Given the description of an element on the screen output the (x, y) to click on. 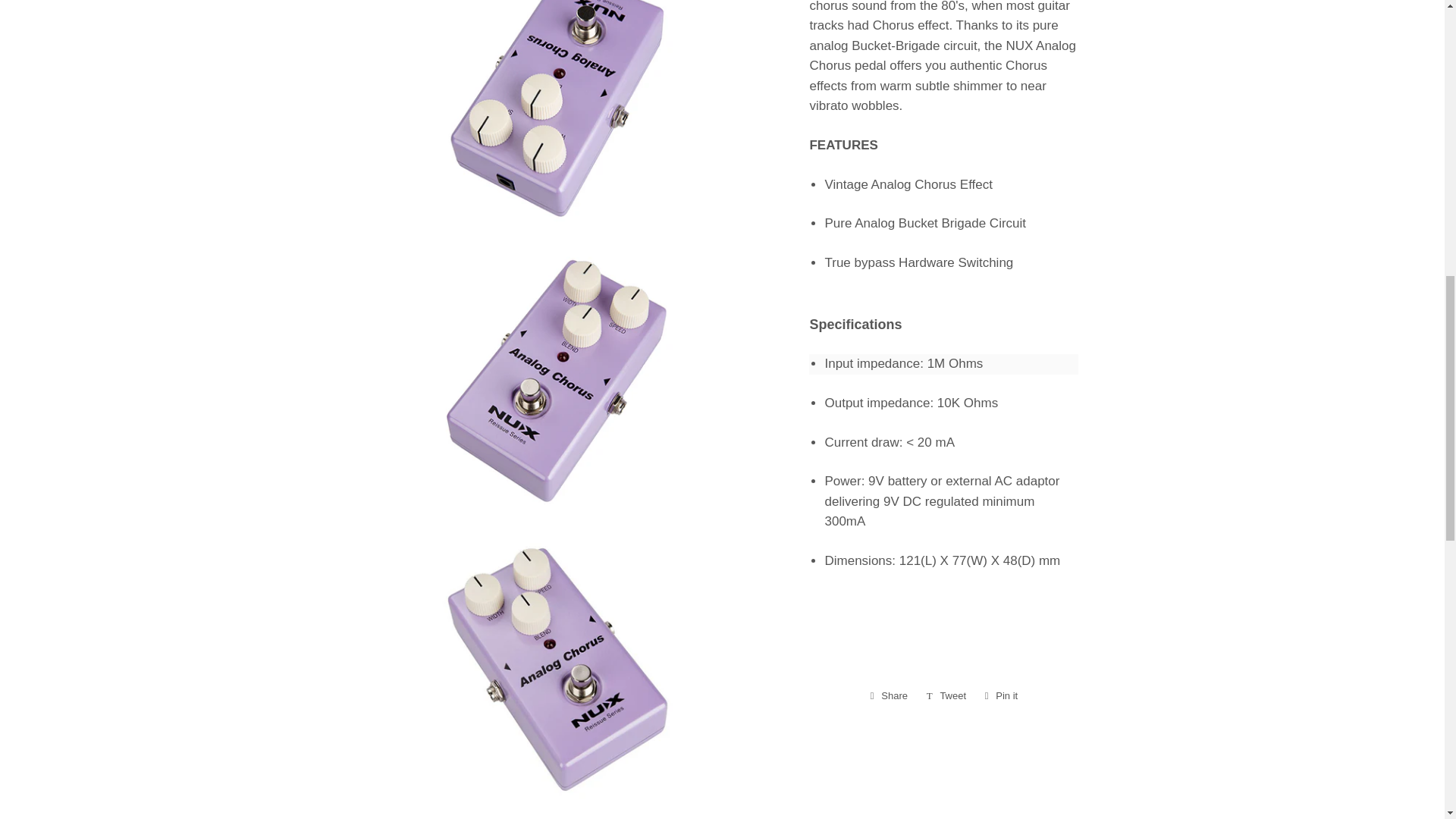
Tweet on Twitter (946, 695)
Pin on Pinterest (1000, 695)
Share on Facebook (889, 695)
